Given the description of an element on the screen output the (x, y) to click on. 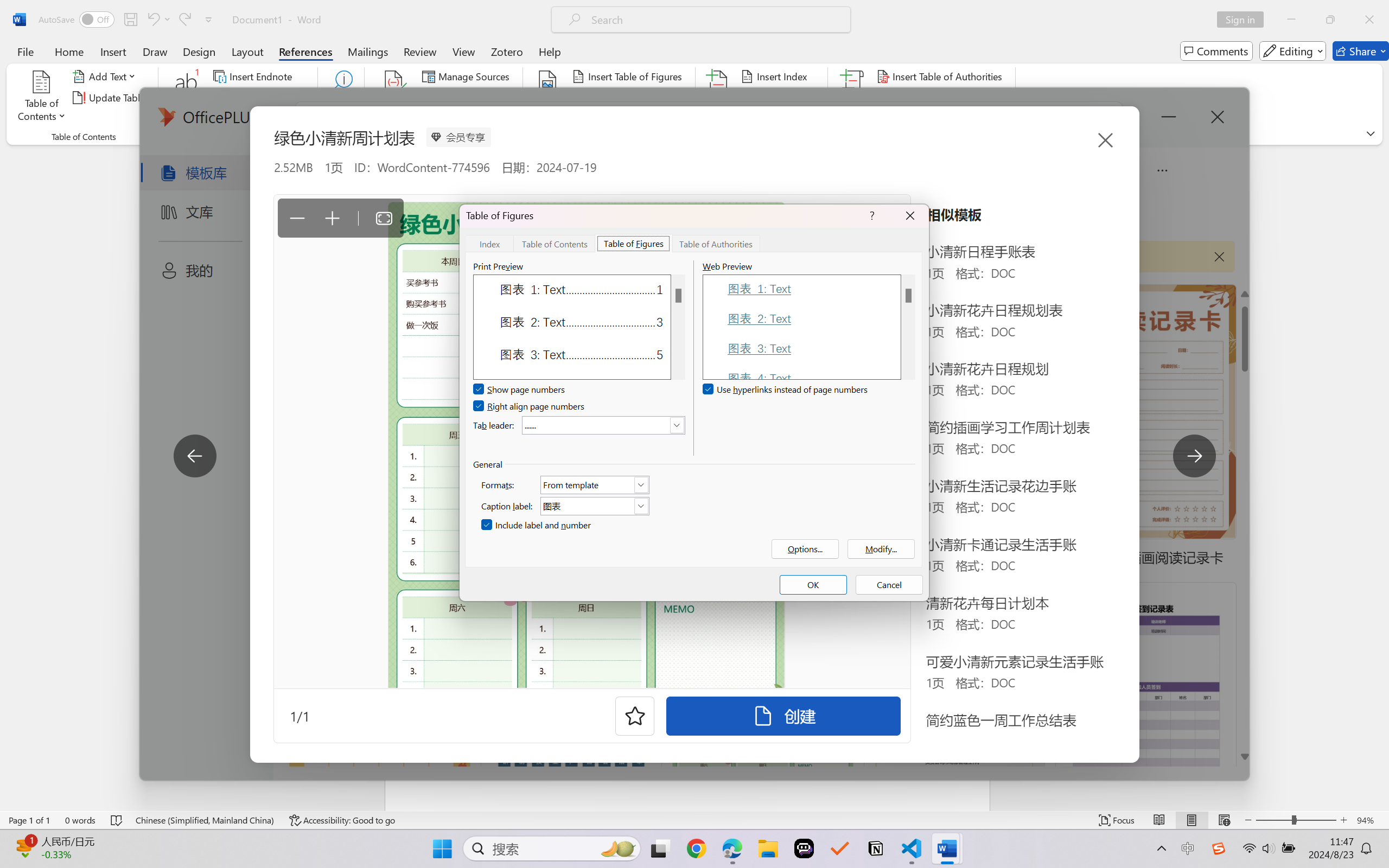
Insert Citation (393, 97)
Table of Contents (554, 243)
Bibliography (463, 118)
